Given the description of an element on the screen output the (x, y) to click on. 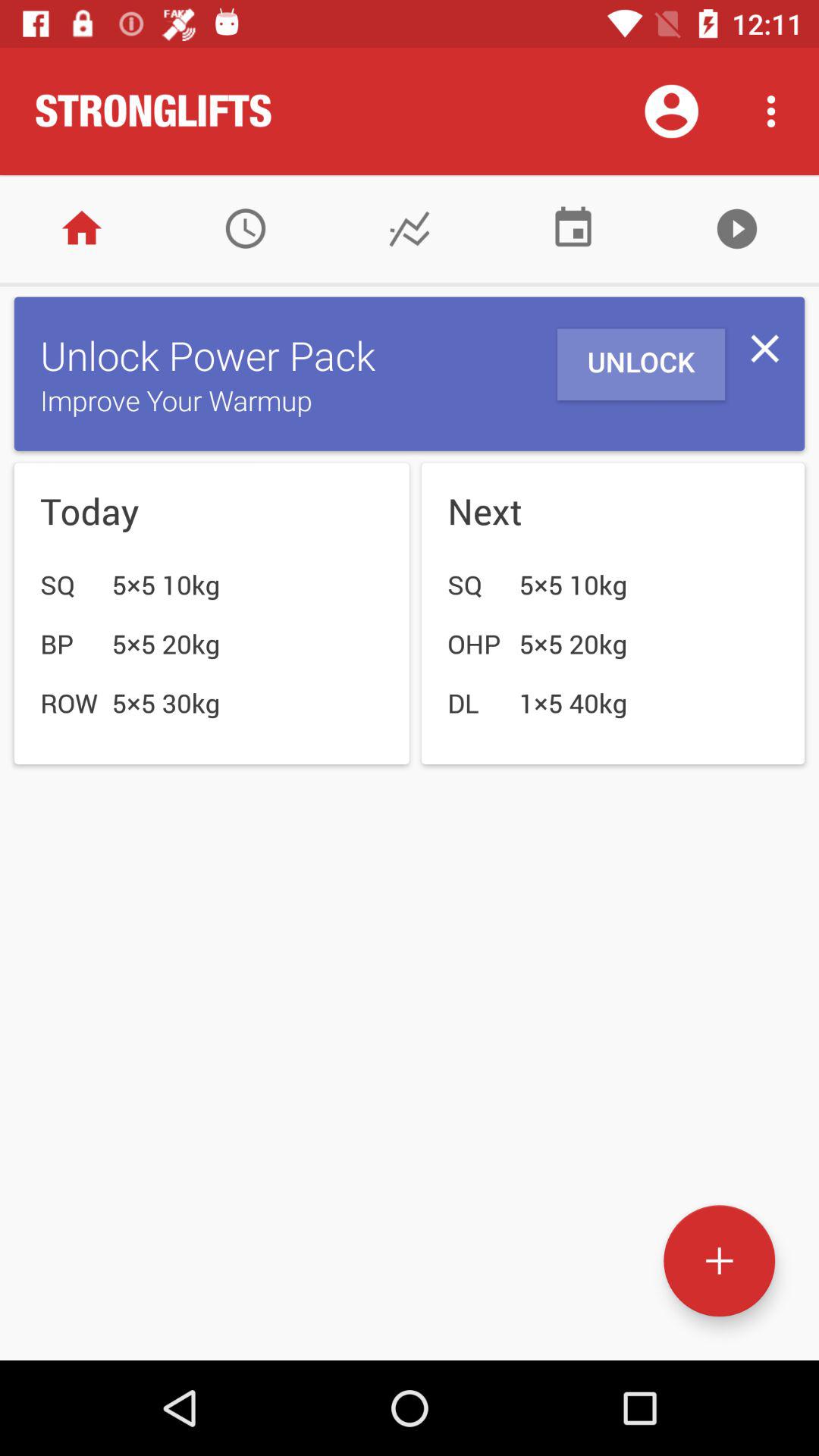
battery setting (573, 228)
